Given the description of an element on the screen output the (x, y) to click on. 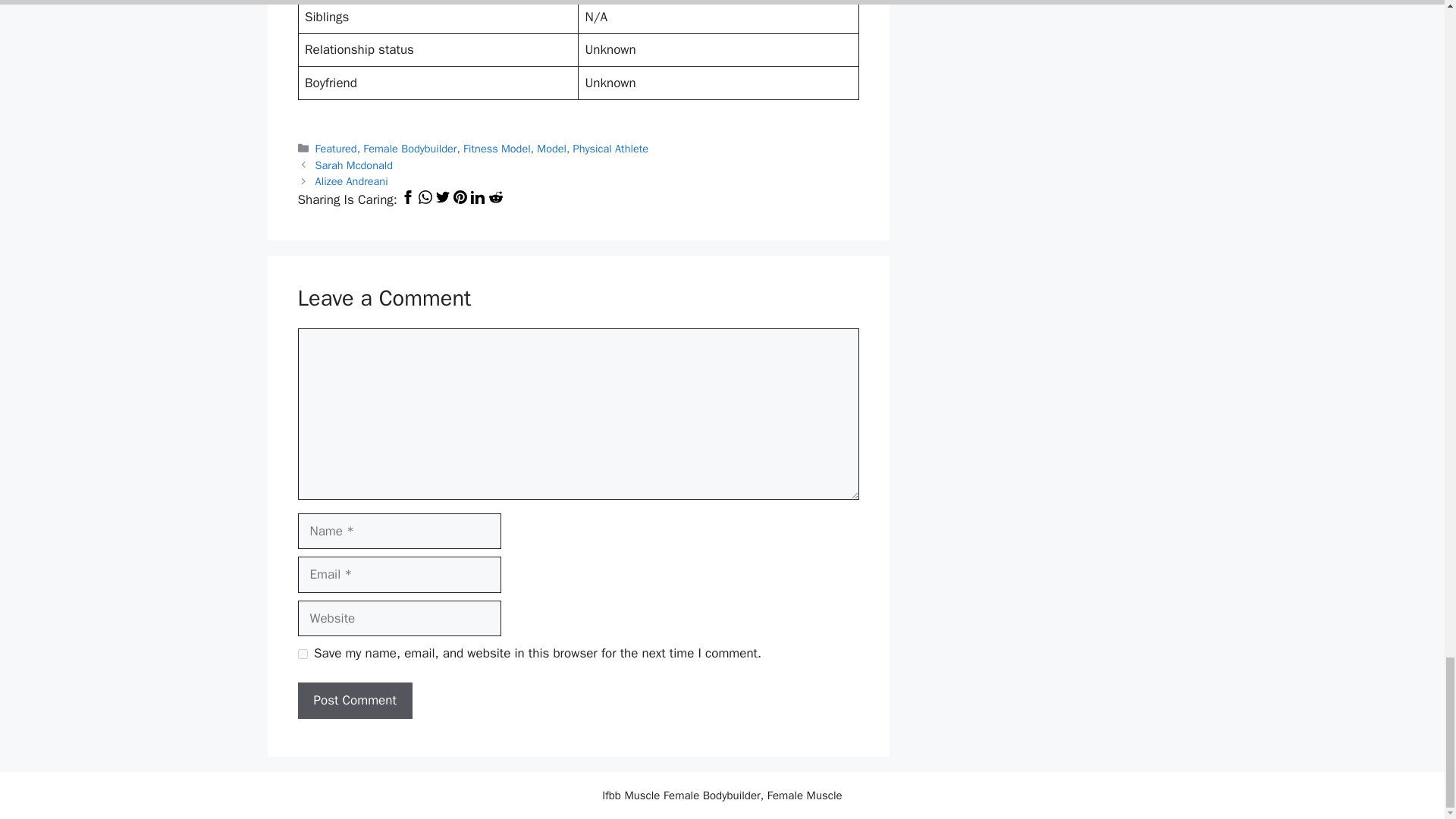
Fitness Model (497, 148)
Sarah Mcdonald (354, 164)
yes (302, 654)
Alizee Andreani (351, 181)
Physical Athlete (610, 148)
Female Bodybuilder (409, 148)
Featured (335, 148)
Model (551, 148)
Post Comment (354, 700)
